Given the description of an element on the screen output the (x, y) to click on. 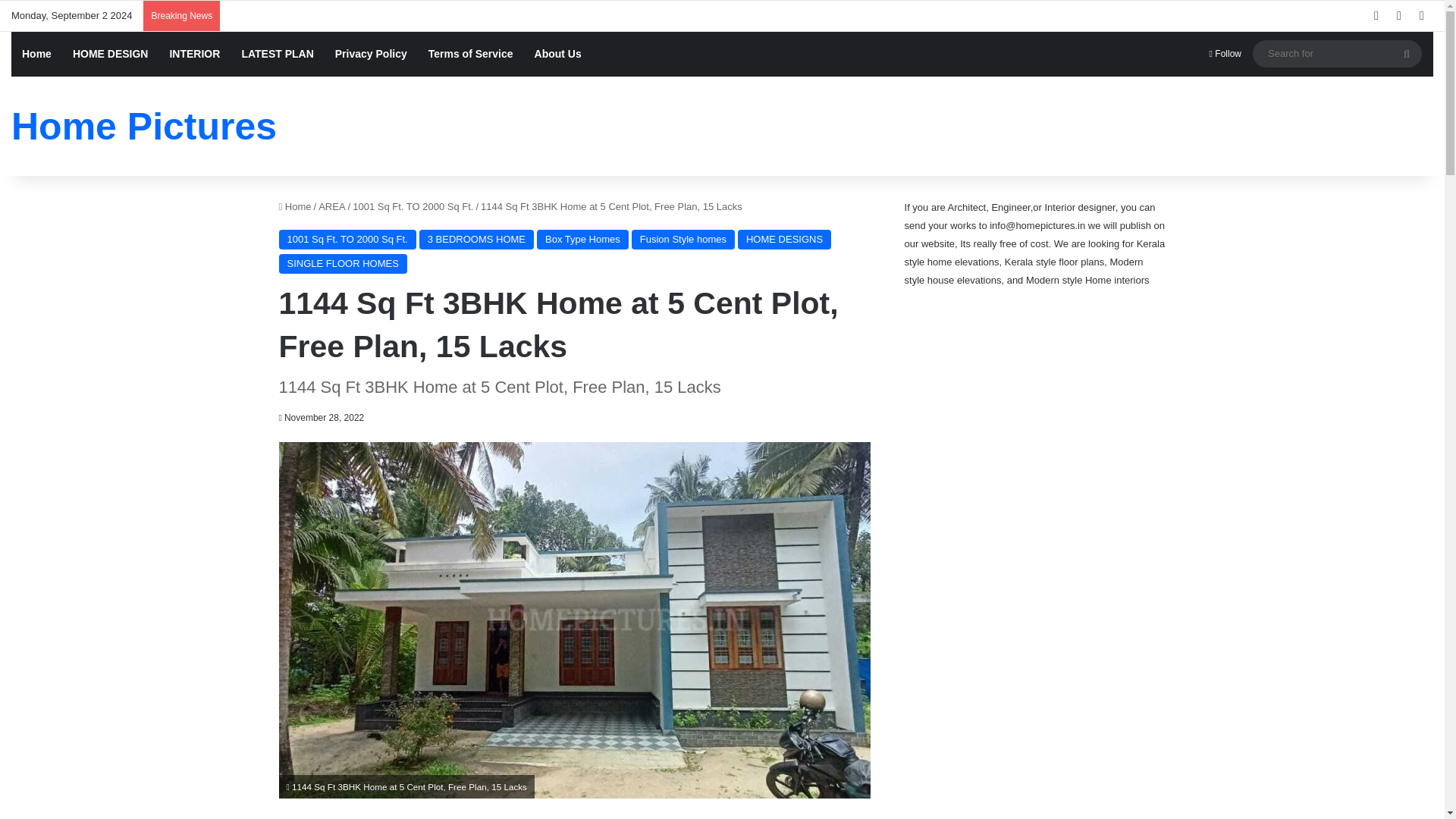
1001 Sq Ft. TO 2000 Sq Ft. (347, 239)
Fusion Style homes (683, 239)
Home Pictures (143, 126)
Search for (1337, 53)
Follow (1225, 53)
Terms of Service (470, 53)
Search for (1406, 53)
Home (36, 53)
INTERIOR (194, 53)
Box Type Homes (582, 239)
